Given the description of an element on the screen output the (x, y) to click on. 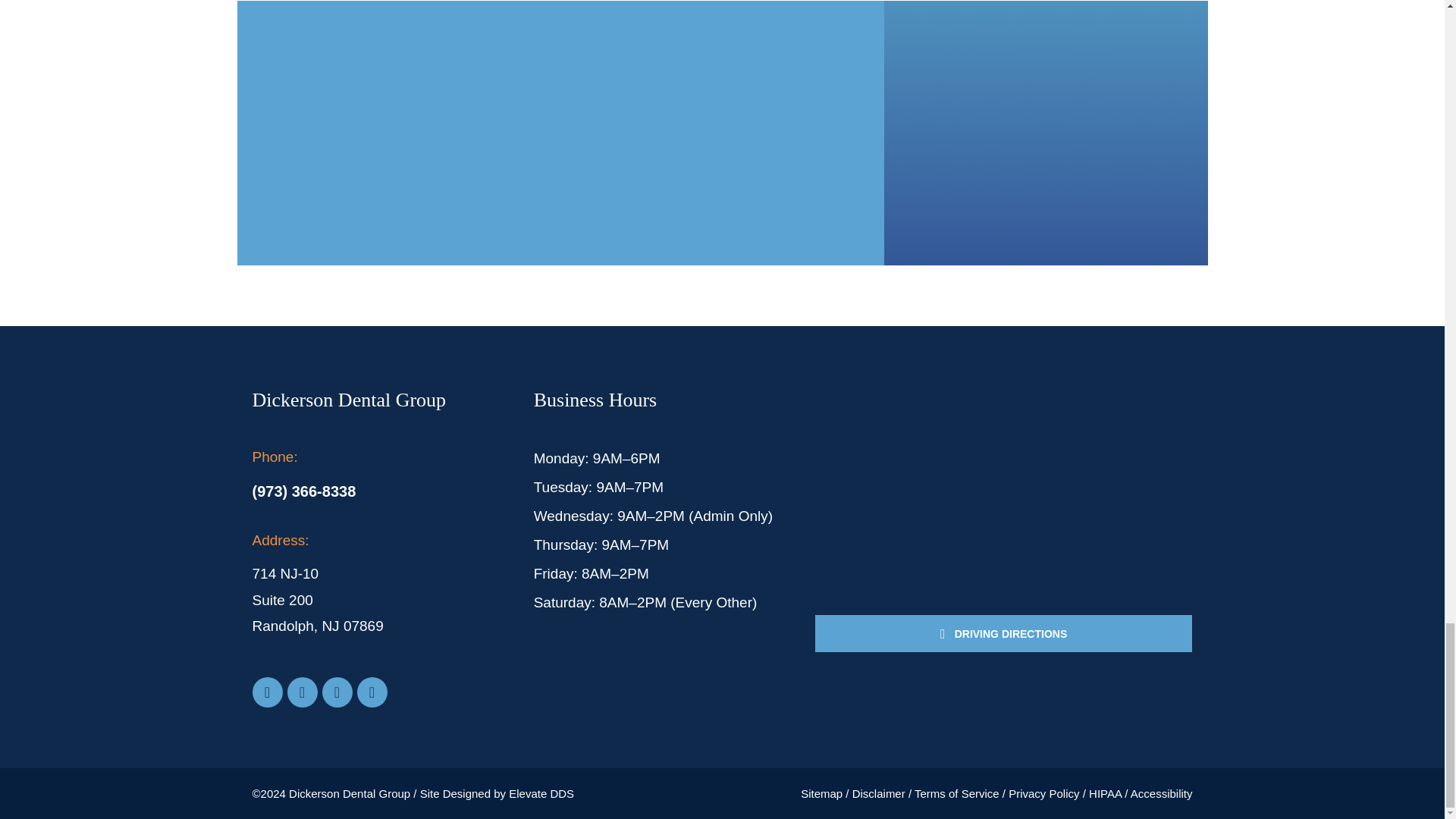
Instagram (301, 692)
Google (371, 692)
Google (336, 692)
Facebook (266, 692)
